Given the description of an element on the screen output the (x, y) to click on. 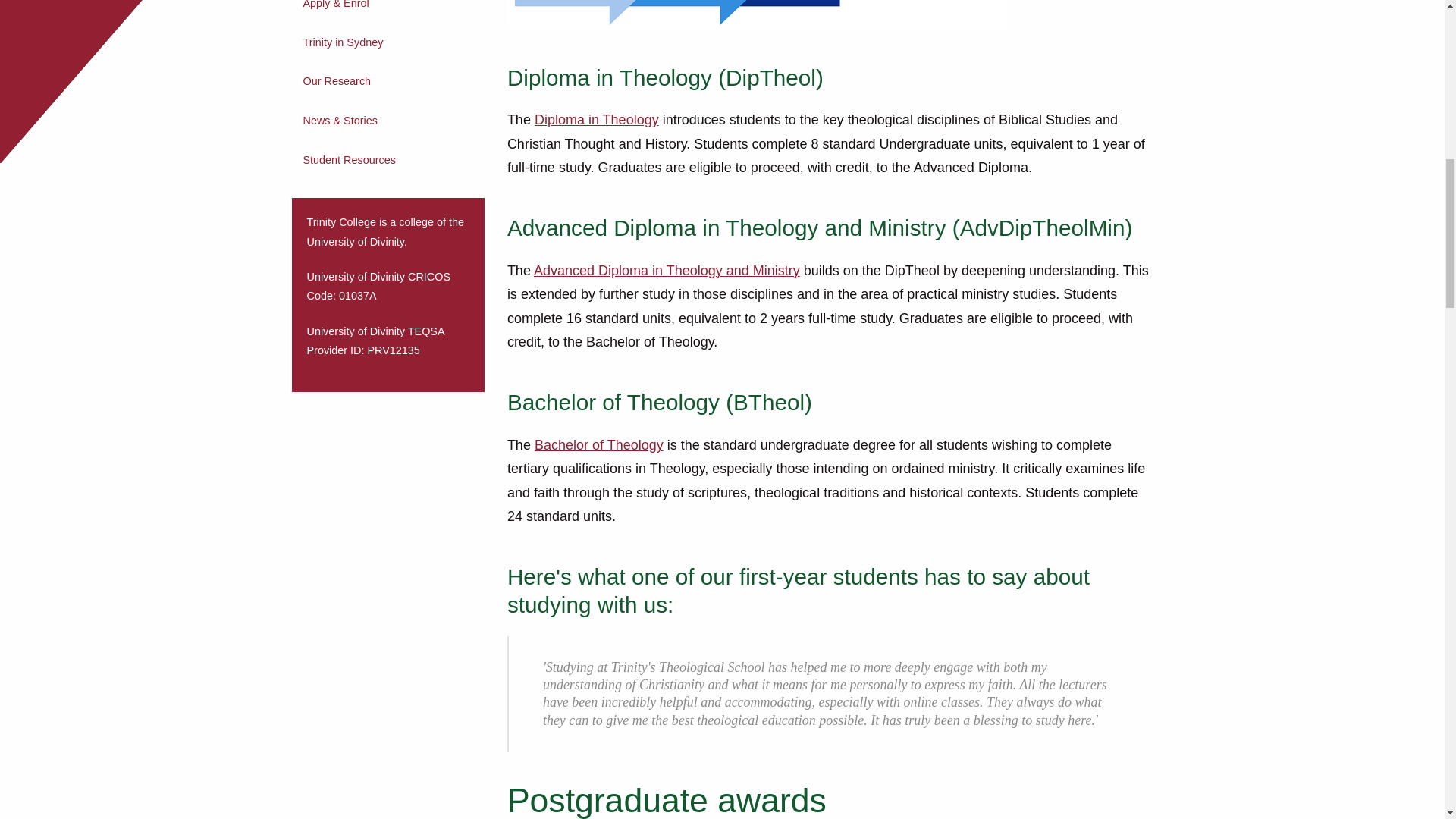
Bachelor of Theology (598, 445)
AdvDip (666, 271)
Diploma in Theology (596, 120)
